Given the description of an element on the screen output the (x, y) to click on. 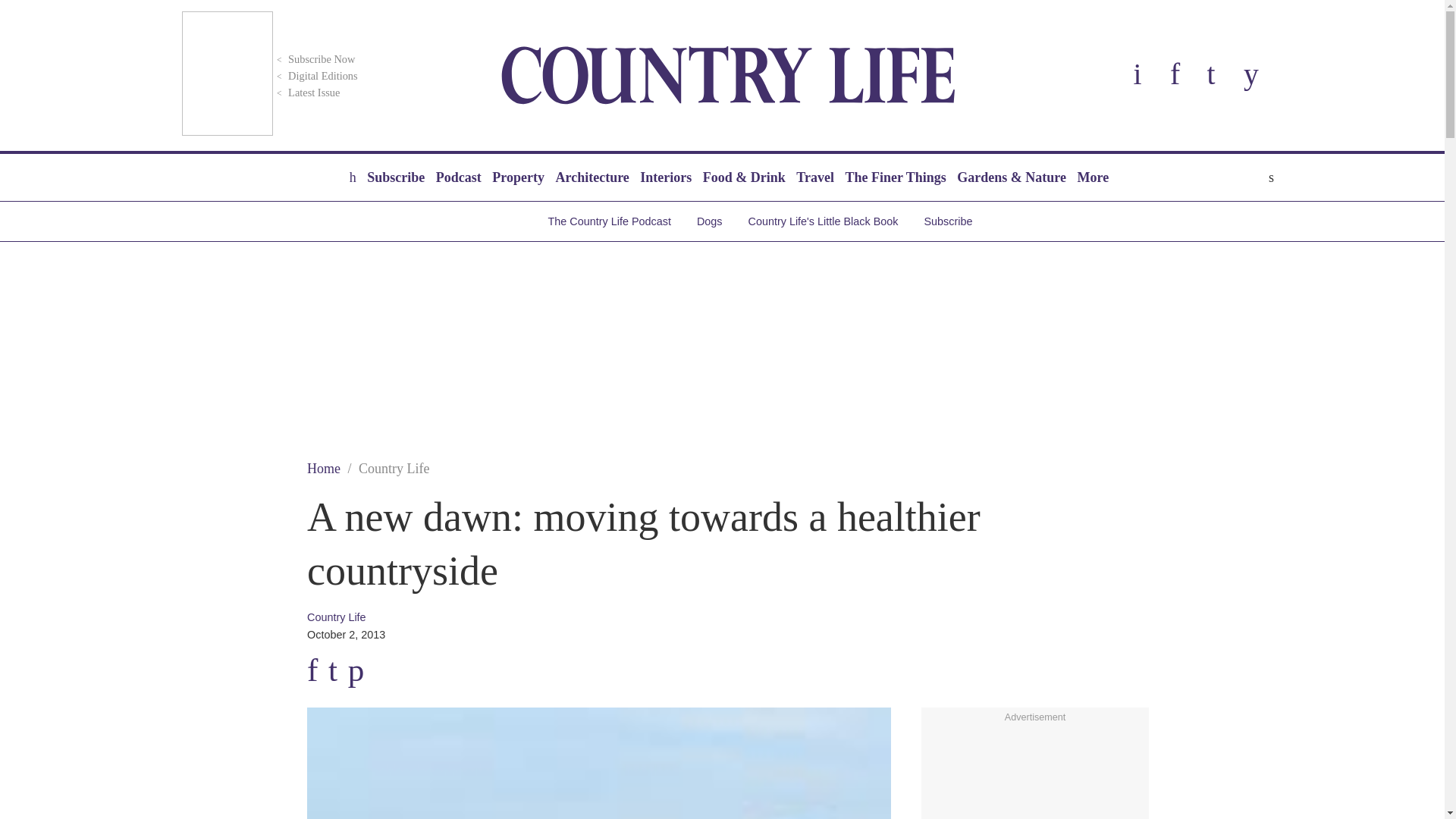
Property (517, 176)
The Finer Things (895, 176)
Interiors (665, 176)
Latest Issue (306, 92)
Travel (815, 176)
Digital Editions (315, 75)
Architecture (592, 176)
Subscribe (395, 176)
Podcast (458, 176)
Country Life (727, 74)
